Given the description of an element on the screen output the (x, y) to click on. 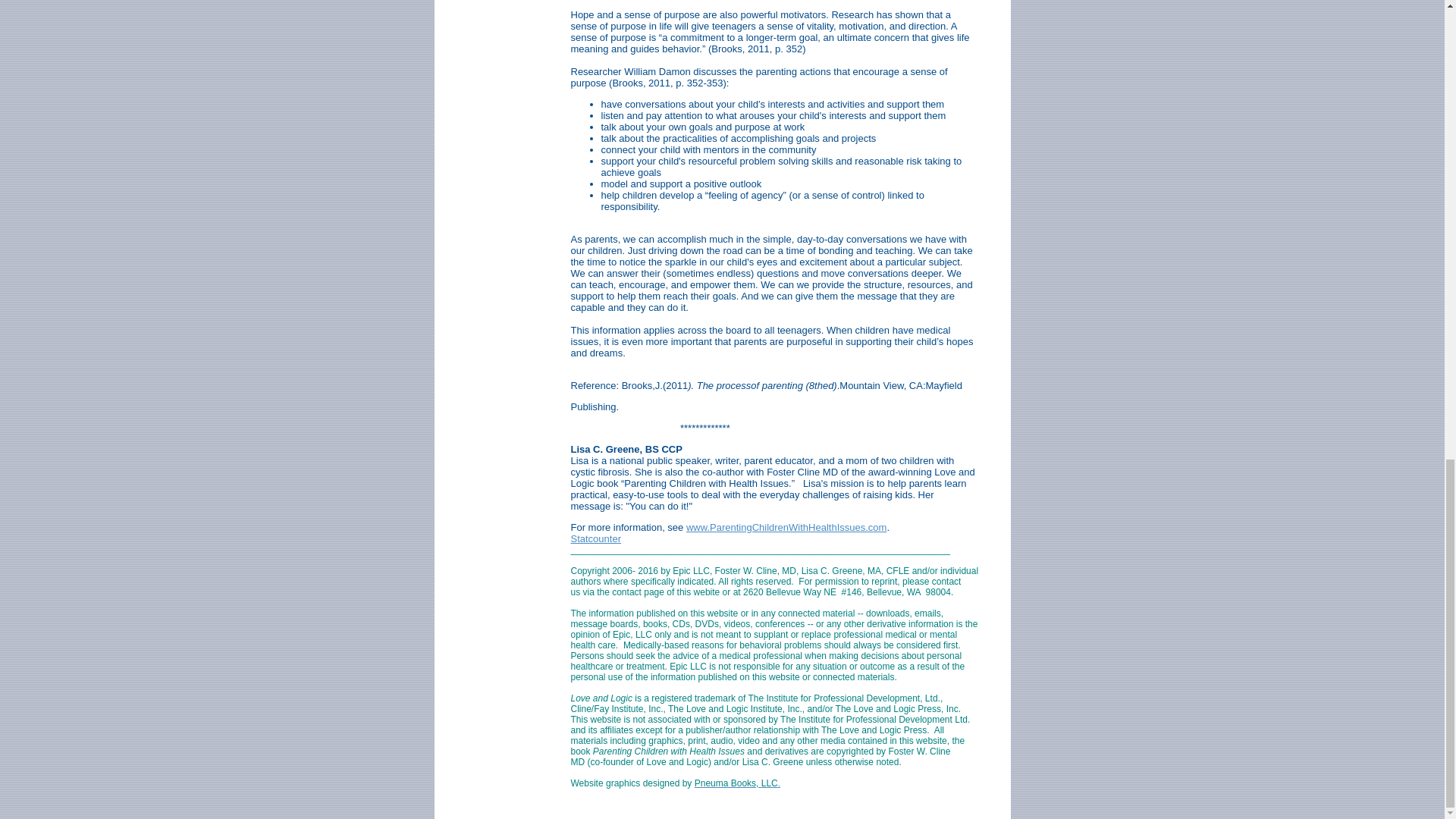
Pneuma Books, LLC. (737, 783)
www.ParentingChildrenWithHealthIssues.com (785, 527)
Statcounter (595, 538)
